Given the description of an element on the screen output the (x, y) to click on. 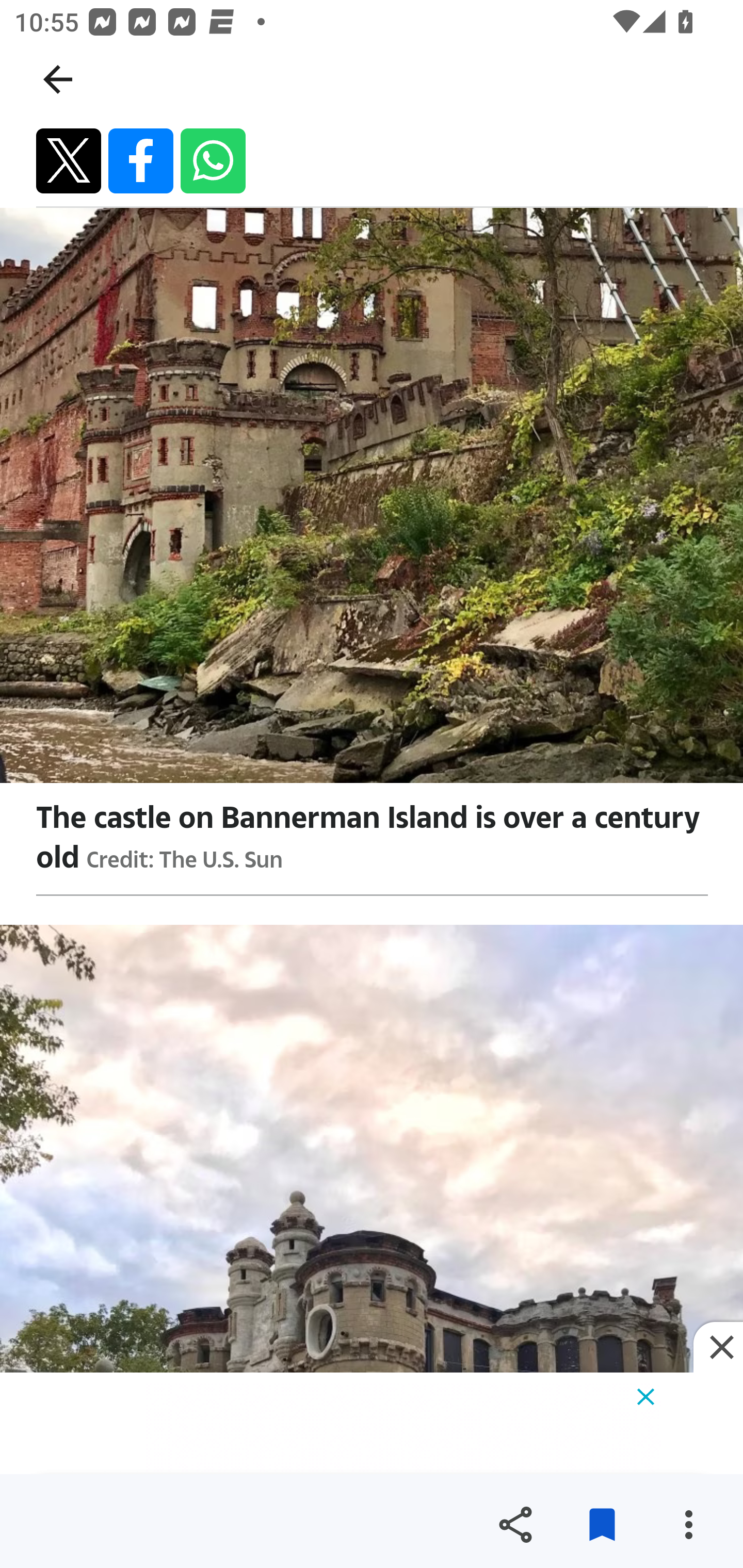
Navigate up (57, 79)
Share by twitter (69, 161)
Share by facebook (141, 161)
Share by whatsapp (212, 161)
Share (514, 1524)
Remove from saved stories (601, 1524)
More options (688, 1524)
